Given the description of an element on the screen output the (x, y) to click on. 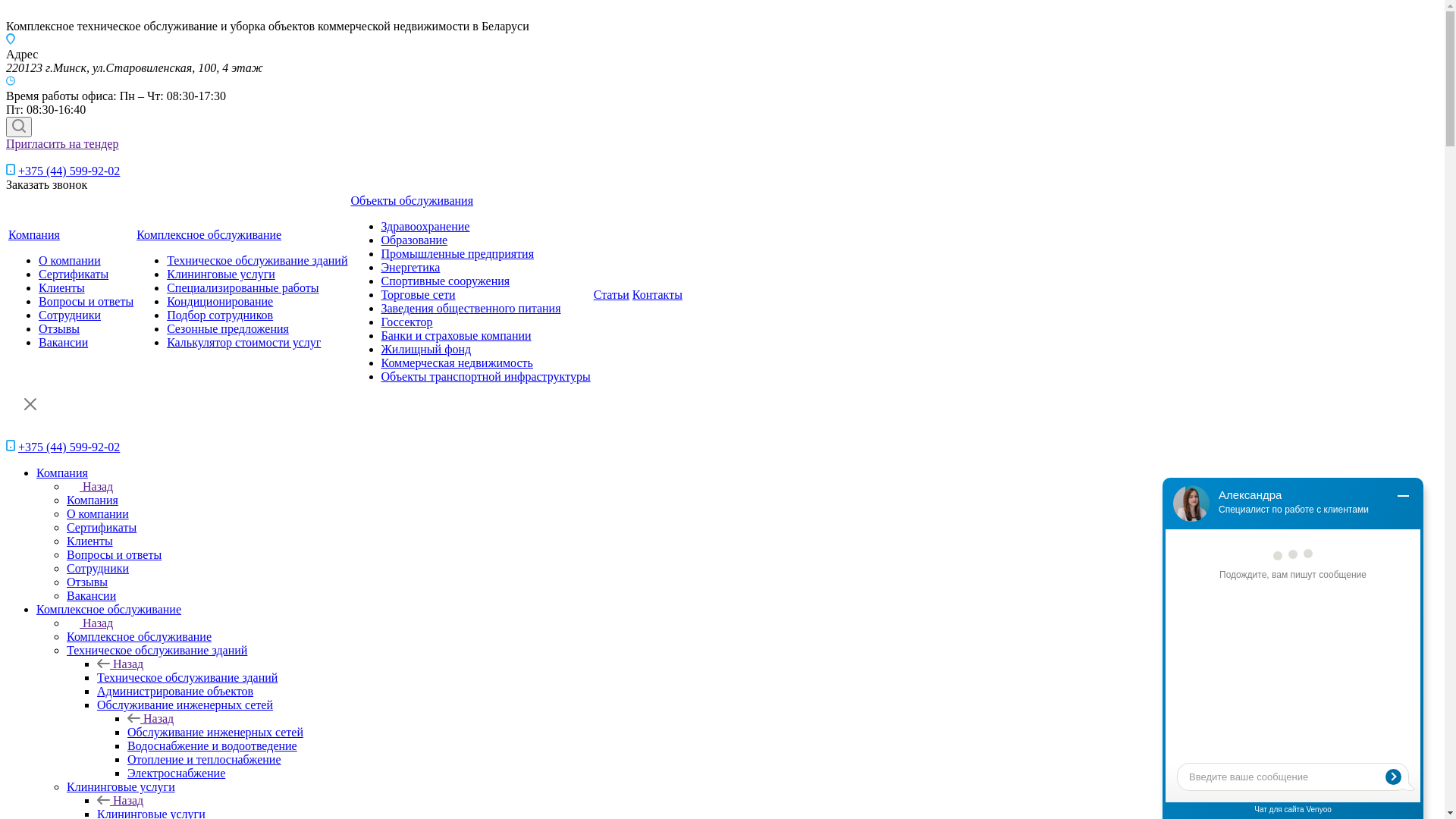
+375 (44) 599-92-02 Element type: text (68, 170)
+375 (44) 599-92-02 Element type: text (68, 446)
